Given the description of an element on the screen output the (x, y) to click on. 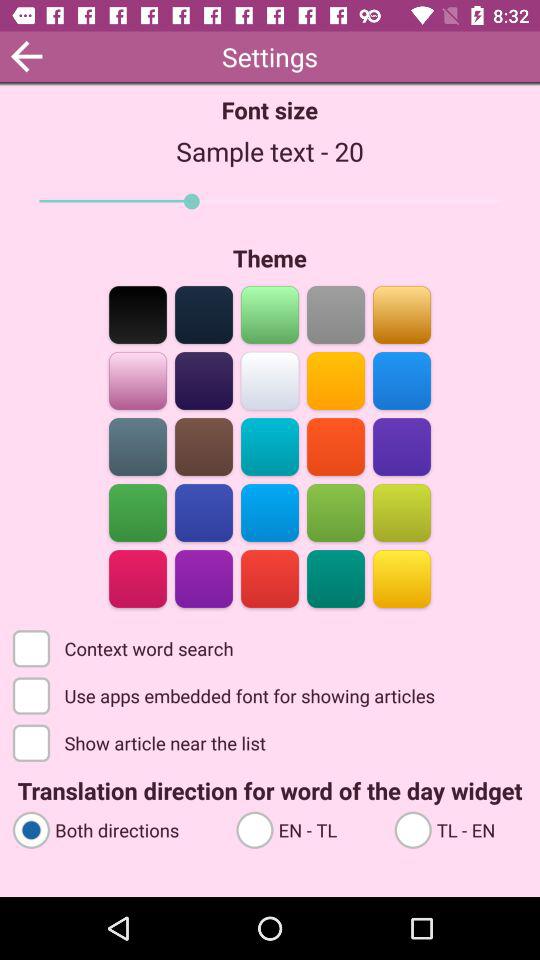
select that color as the theme (335, 577)
